Given the description of an element on the screen output the (x, y) to click on. 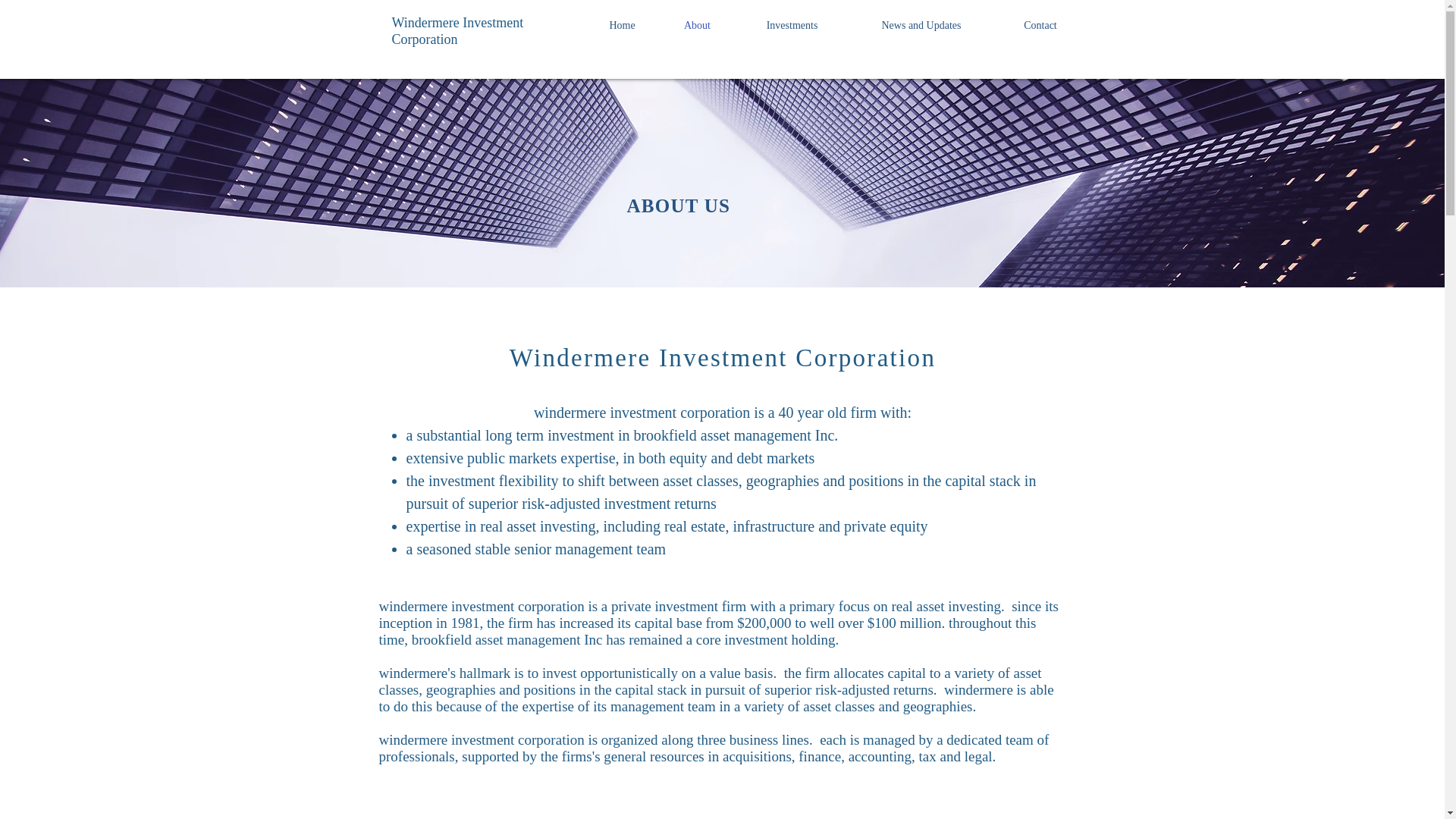
News and Updates (920, 25)
About (696, 25)
Home (621, 25)
Investments (791, 25)
Windermere Investment Corporation (456, 30)
Contact (1040, 25)
